Given the description of an element on the screen output the (x, y) to click on. 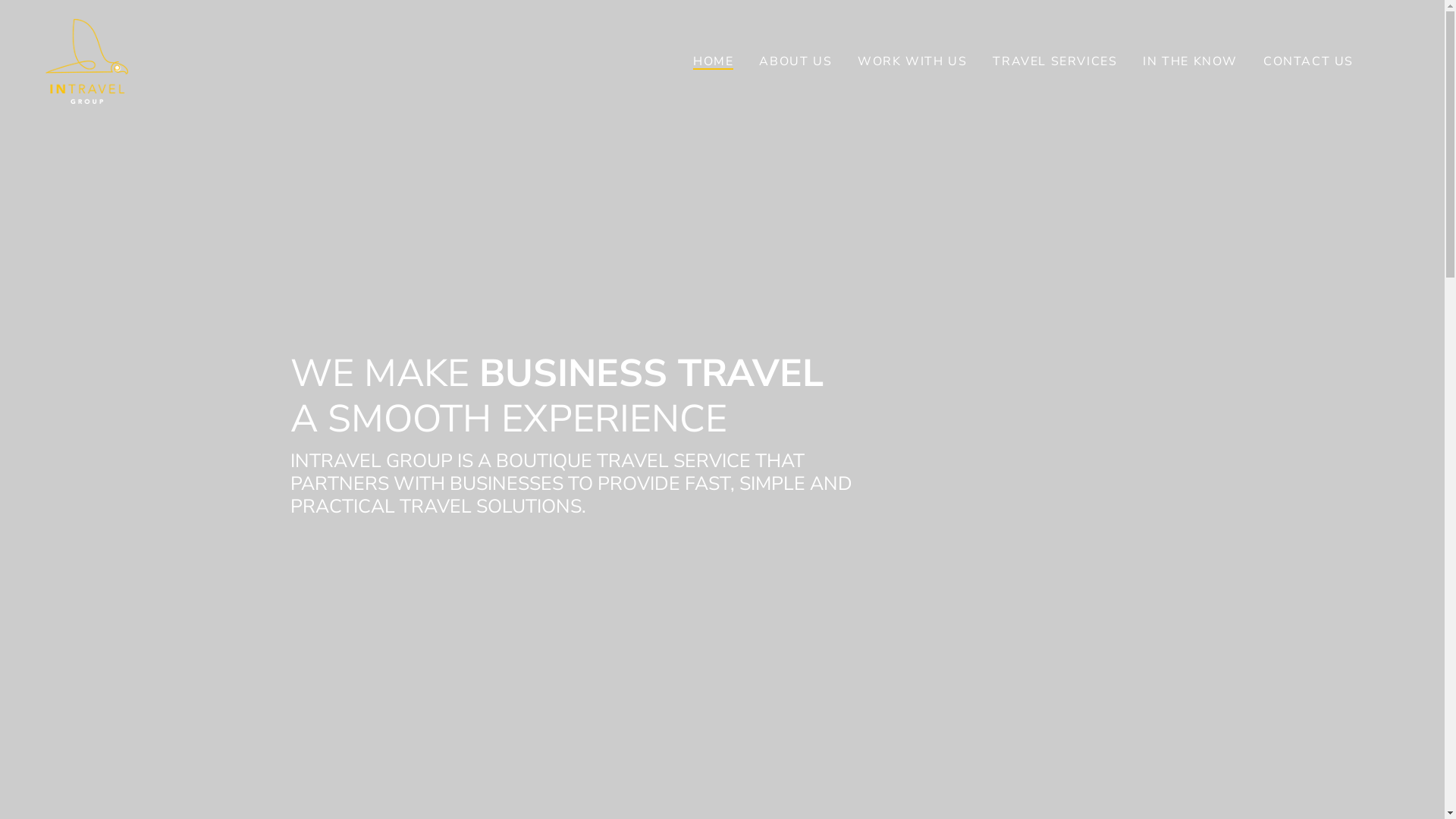
CONTACT US Element type: text (1308, 61)
HOME Element type: text (713, 61)
IN THE KNOW Element type: text (1189, 61)
WORK WITH US Element type: text (911, 61)
TRAVEL SERVICES Element type: text (1054, 61)
ABOUT US Element type: text (795, 61)
